Given the description of an element on the screen output the (x, y) to click on. 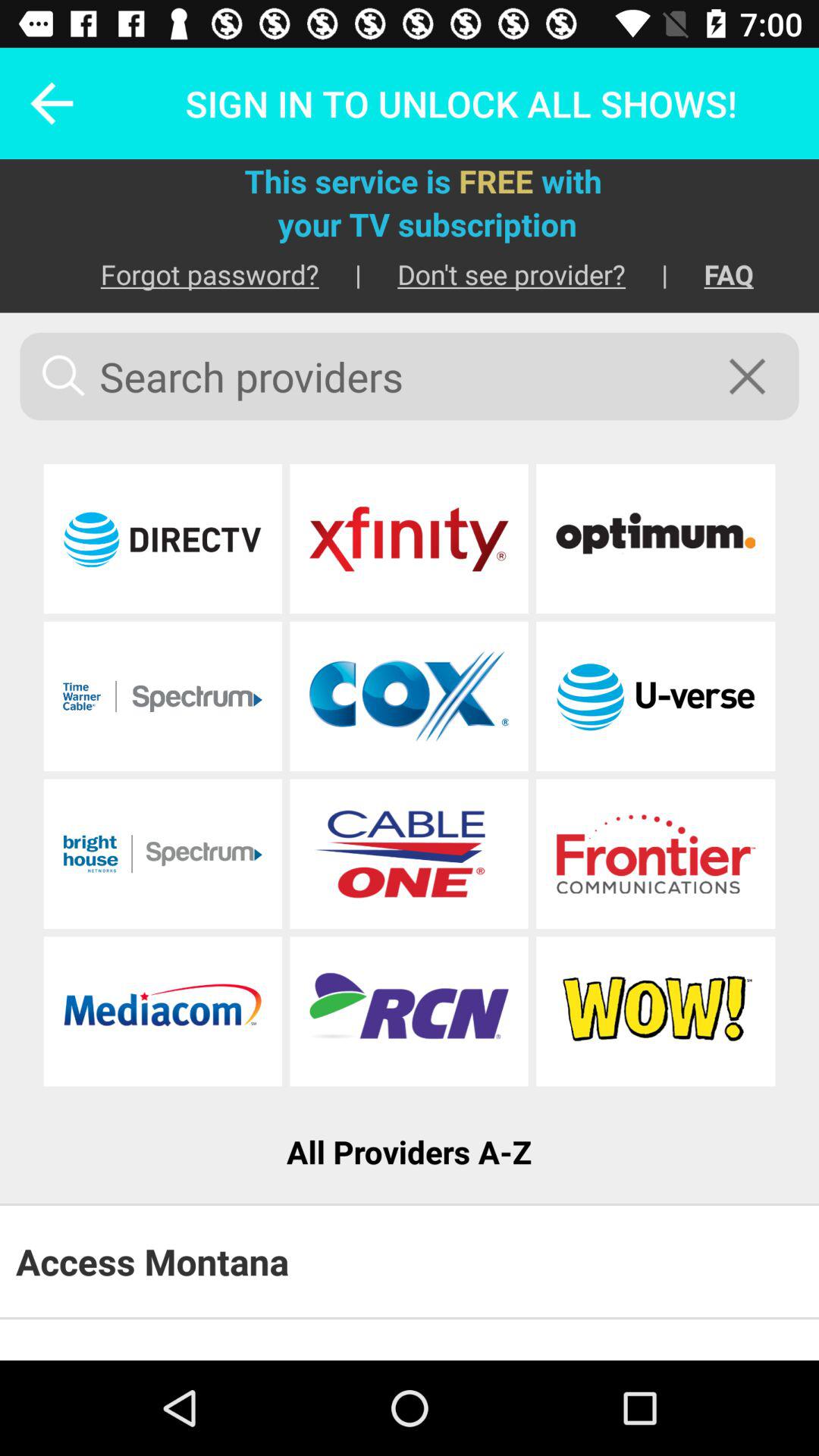
open selection (162, 696)
